Given the description of an element on the screen output the (x, y) to click on. 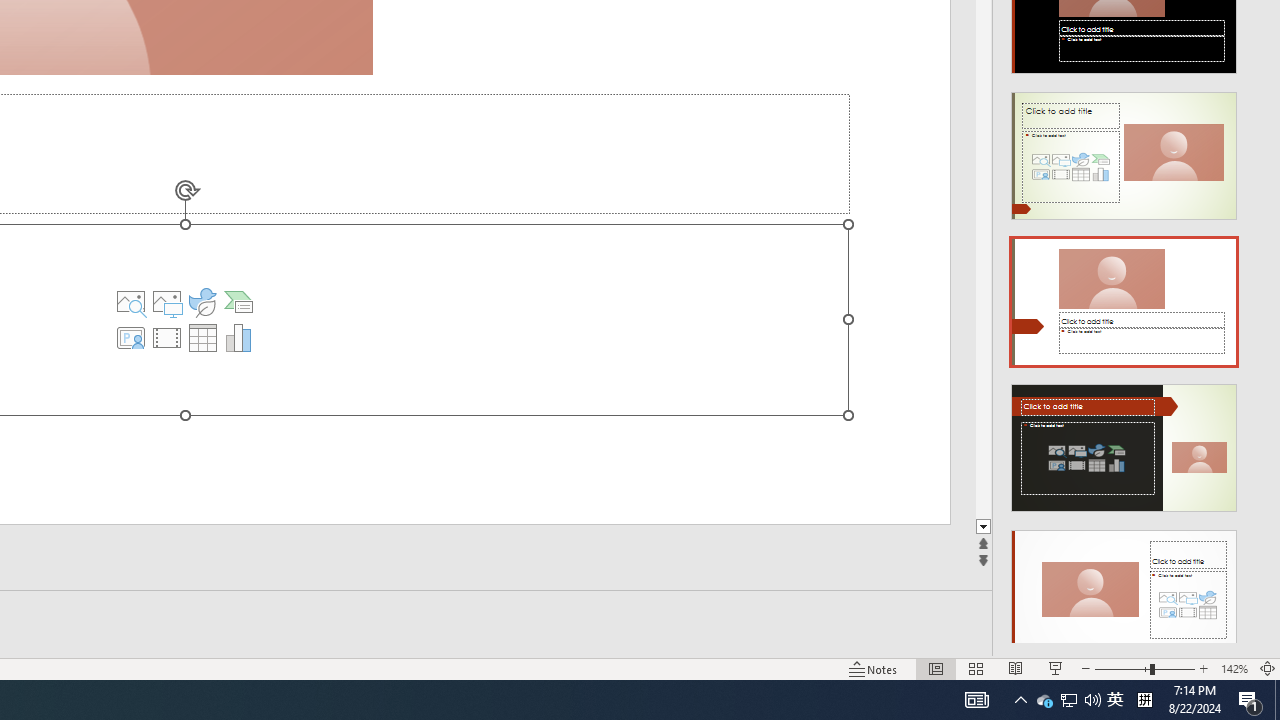
Zoom 142% (1234, 668)
